Given the description of an element on the screen output the (x, y) to click on. 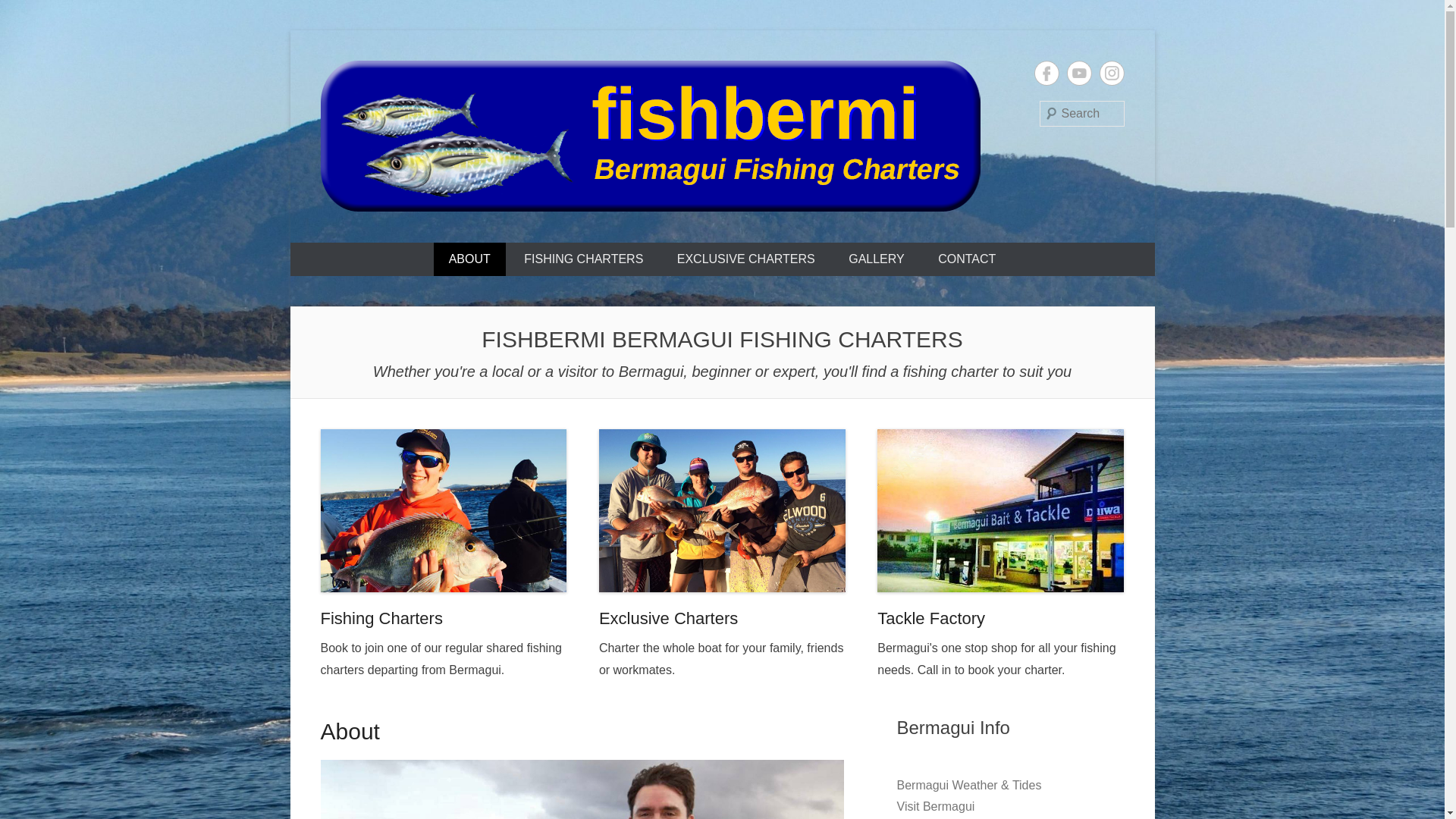
Skip to content Element type: text (289, 29)
Fishing Charters Element type: hover (443, 510)
FishBermi Bermagui Fishing Charters Element type: text (661, 238)
GALLERY Element type: text (876, 259)
Visit Bermagui Element type: text (935, 806)
FISHING CHARTERS Element type: text (583, 259)
CONTACT Element type: text (966, 259)
Tackle Factory Element type: hover (1000, 510)
Bermagui Weather & Tides Element type: text (968, 784)
Fishing Charters Element type: text (381, 617)
Exclusive Charters Element type: text (668, 617)
Exclusive Charters Element type: hover (722, 510)
EXCLUSIVE CHARTERS Element type: text (746, 259)
Tackle Factory Element type: text (931, 617)
Facebook Element type: text (1046, 72)
YouTube Element type: text (1078, 72)
ABOUT Element type: text (469, 259)
Instagram Element type: text (1111, 72)
Search Element type: text (32, 15)
